Given the description of an element on the screen output the (x, y) to click on. 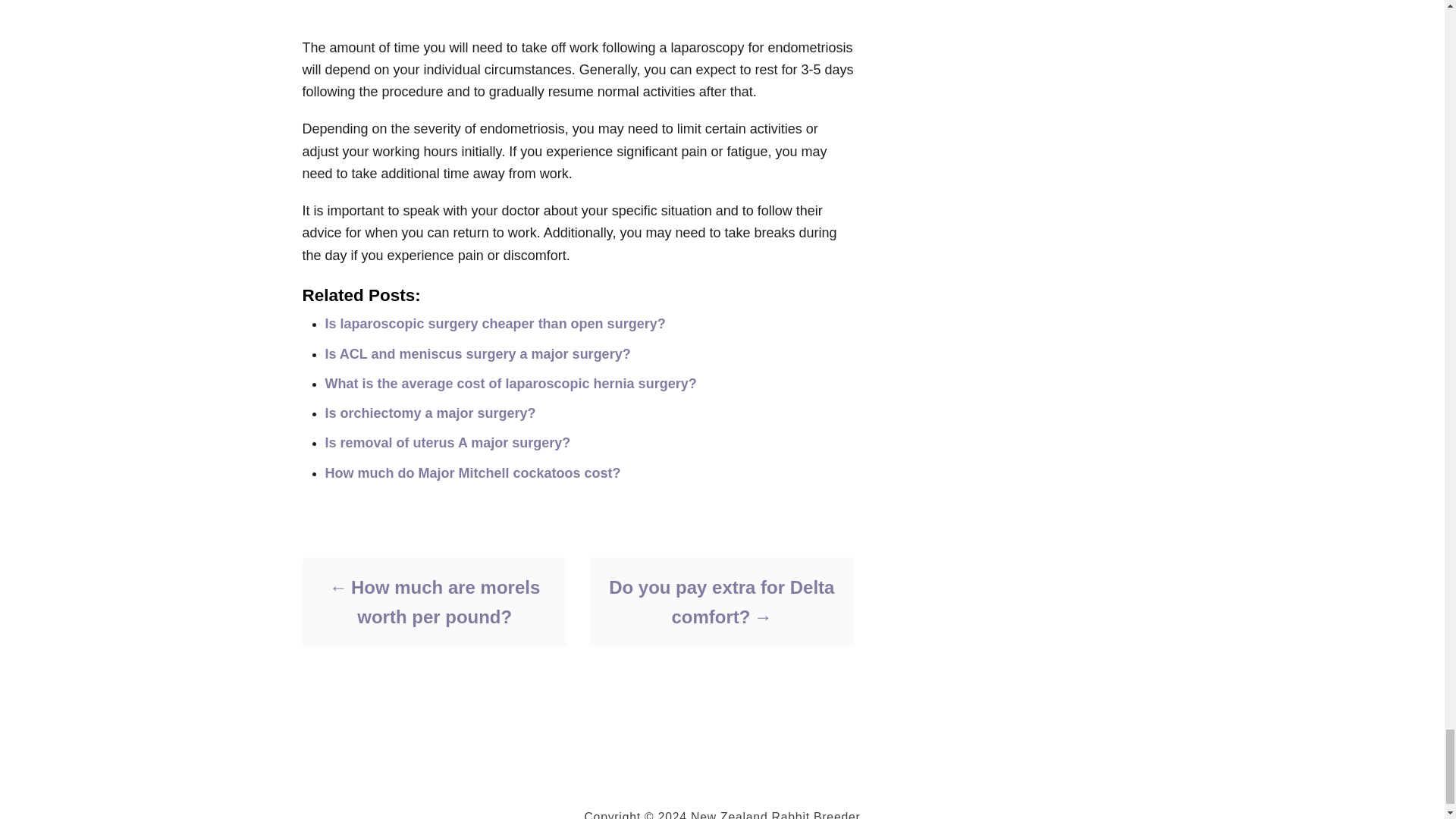
What is the average cost of laparoscopic hernia surgery? (509, 383)
How much are morels worth per pound? (434, 601)
Is orchiectomy a major surgery? (429, 412)
Is removal of uterus A major surgery? (447, 442)
Is ACL and meniscus surgery a major surgery? (477, 353)
How much do Major Mitchell cockatoos cost? (472, 473)
Do you pay extra for Delta comfort? (721, 601)
Is laparoscopic surgery cheaper than open surgery? (494, 323)
